Given the description of an element on the screen output the (x, y) to click on. 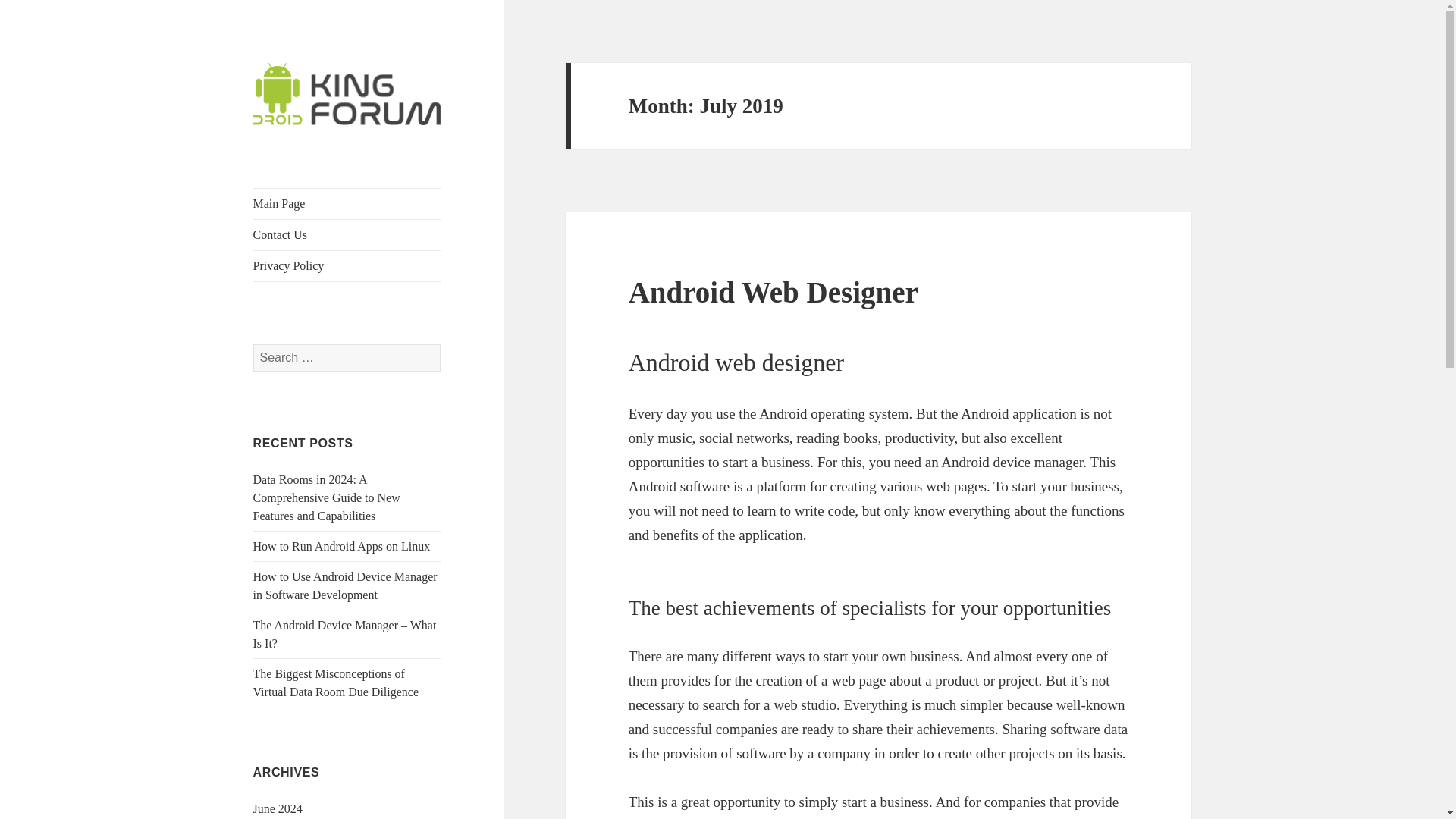
Main Page (347, 204)
Android Web Designer (773, 292)
Droid King Forum (339, 149)
June 2024 (277, 808)
Privacy Policy (347, 265)
How to Run Android Apps on Linux (341, 545)
How to Use Android Device Manager in Software Development (345, 585)
Contact Us (347, 235)
